Given the description of an element on the screen output the (x, y) to click on. 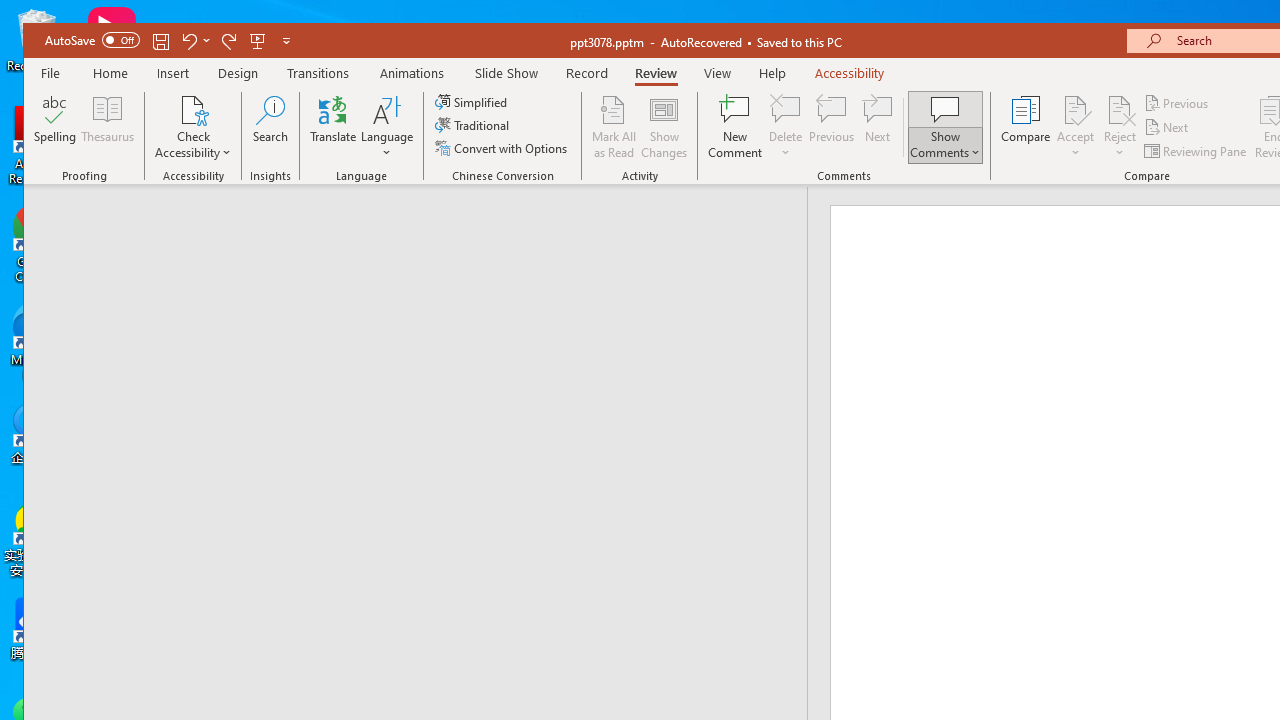
Thesaurus... (107, 127)
Reject (1119, 127)
Check Accessibility (193, 127)
Show Changes (663, 127)
Check Accessibility (193, 109)
Delete (785, 127)
Outline (424, 226)
Translate (333, 127)
Language (387, 127)
